Given the description of an element on the screen output the (x, y) to click on. 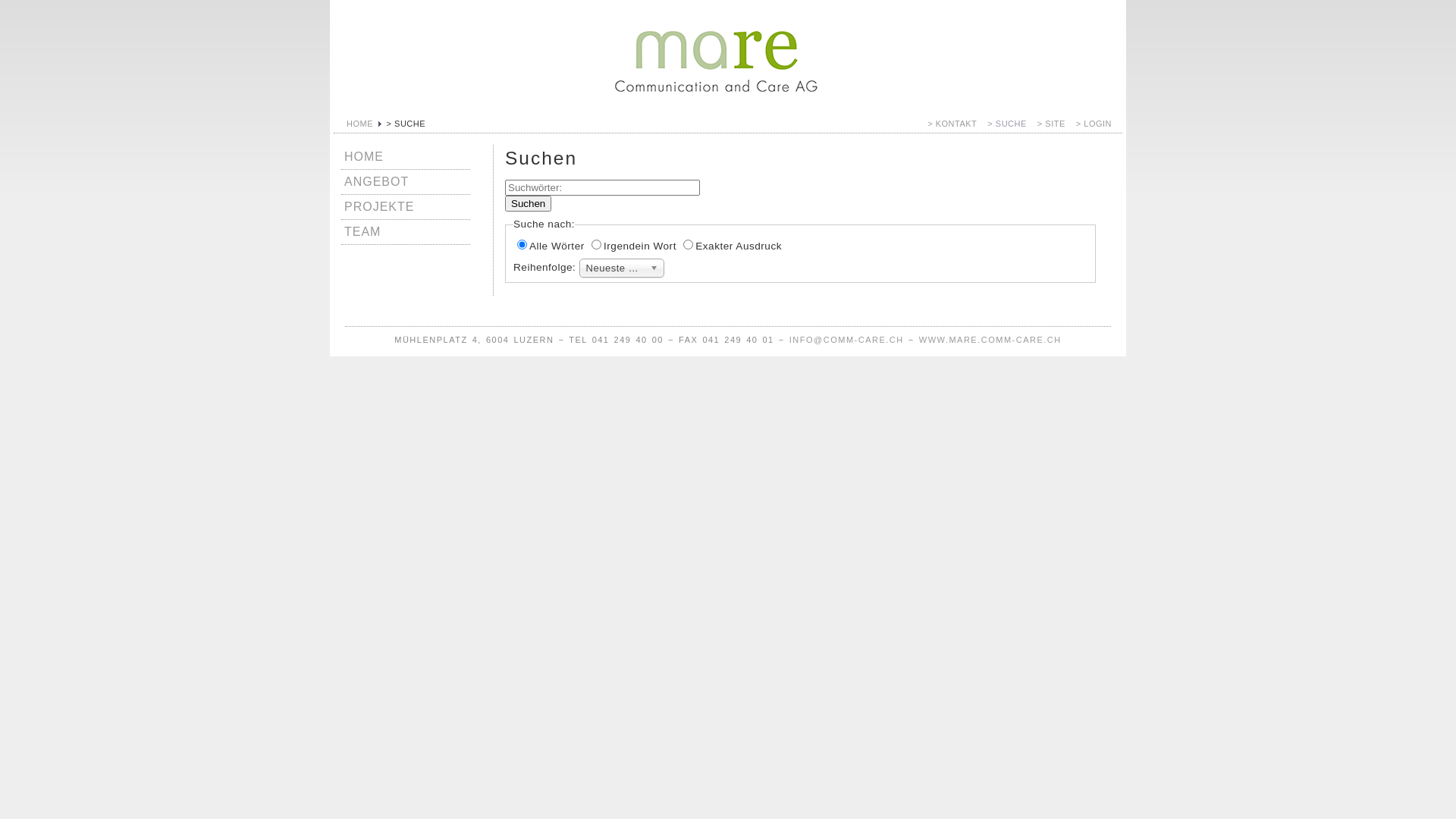
HOME Element type: text (363, 156)
> KONTAKT Element type: text (957, 111)
TEAM Element type: text (362, 230)
HOME Element type: text (359, 123)
Neueste zuerst Element type: text (621, 267)
Suchen Element type: text (528, 203)
ANGEBOT Element type: text (376, 180)
> SITE Element type: text (1056, 111)
WWW.MARE.COMM-CARE.CH Element type: text (990, 339)
> SUCHE Element type: text (1012, 111)
PROJEKTE Element type: text (379, 206)
> LOGIN Element type: text (1099, 111)
